Given the description of an element on the screen output the (x, y) to click on. 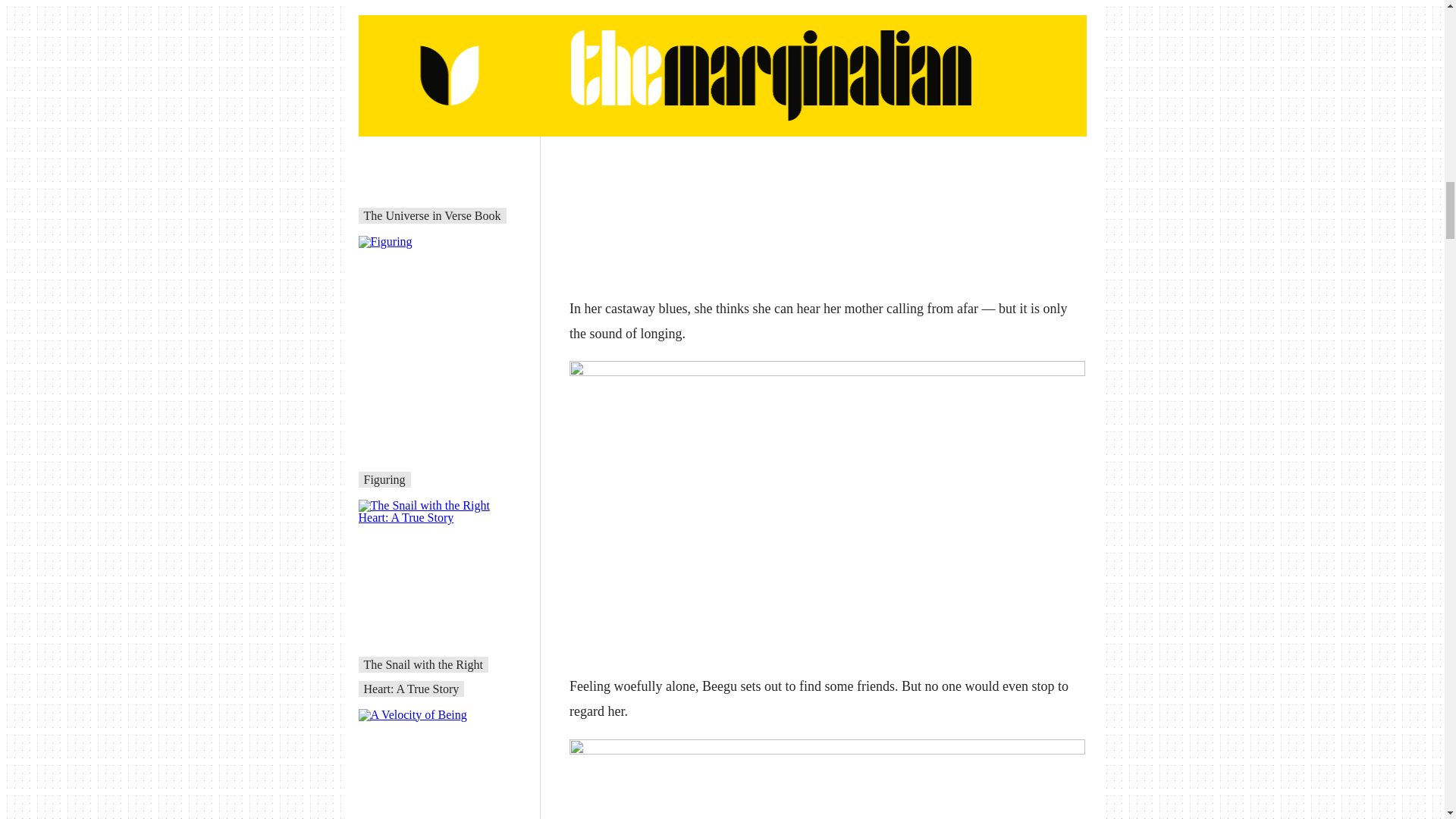
The Universe in Verse Book (432, 215)
The Snail with the Right Heart: A True Story (423, 676)
Figuring (385, 479)
